Given the description of an element on the screen output the (x, y) to click on. 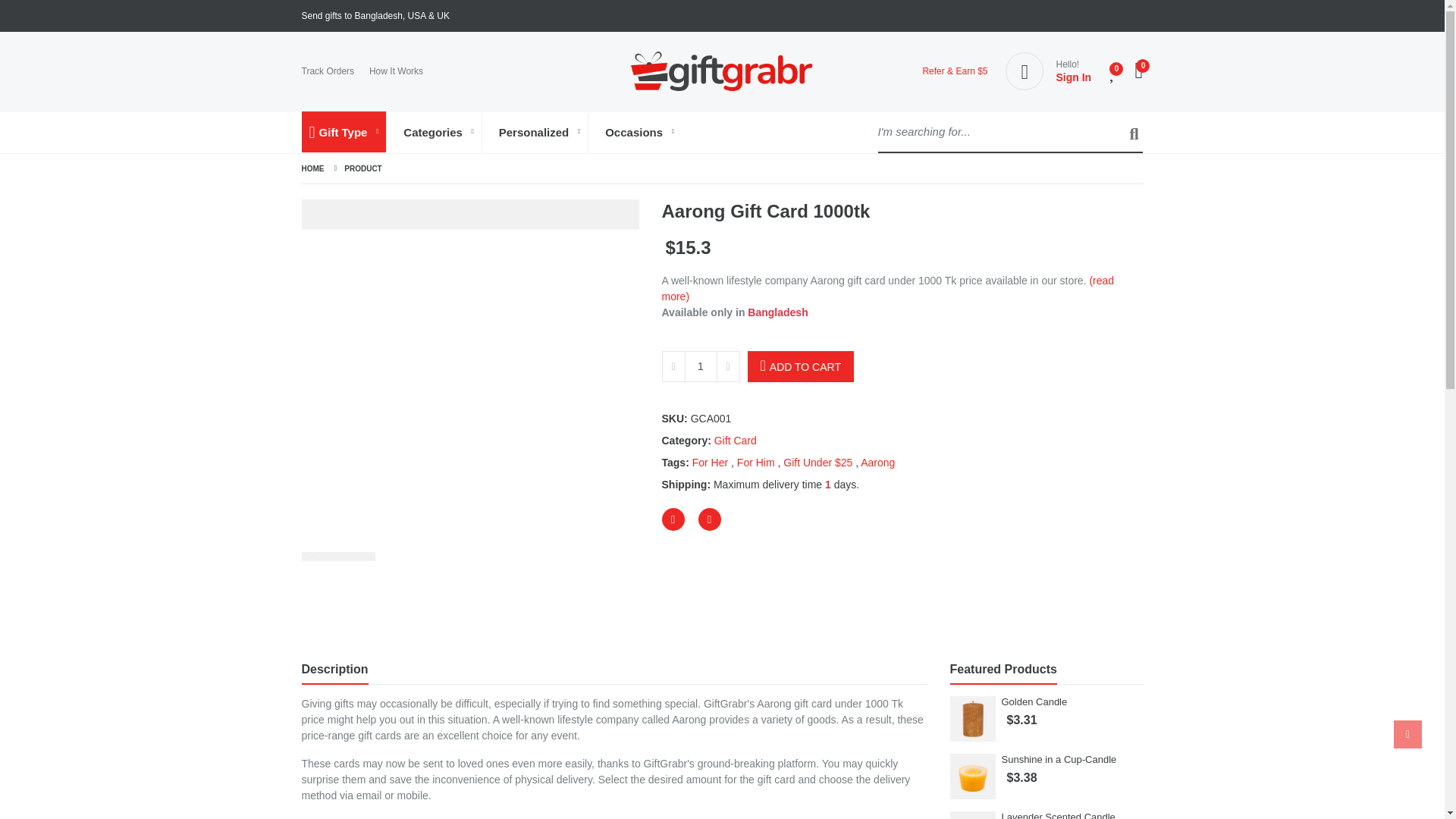
1 (700, 366)
Gift Type (343, 132)
Golden Candle (1034, 701)
Sunshine in a Cup-Candle (1058, 758)
How It Works (396, 70)
Track Orders (328, 70)
Lavender Scented Candle (1058, 815)
Occasions (639, 132)
Add to Cart (800, 366)
Personalized (539, 132)
